Given the description of an element on the screen output the (x, y) to click on. 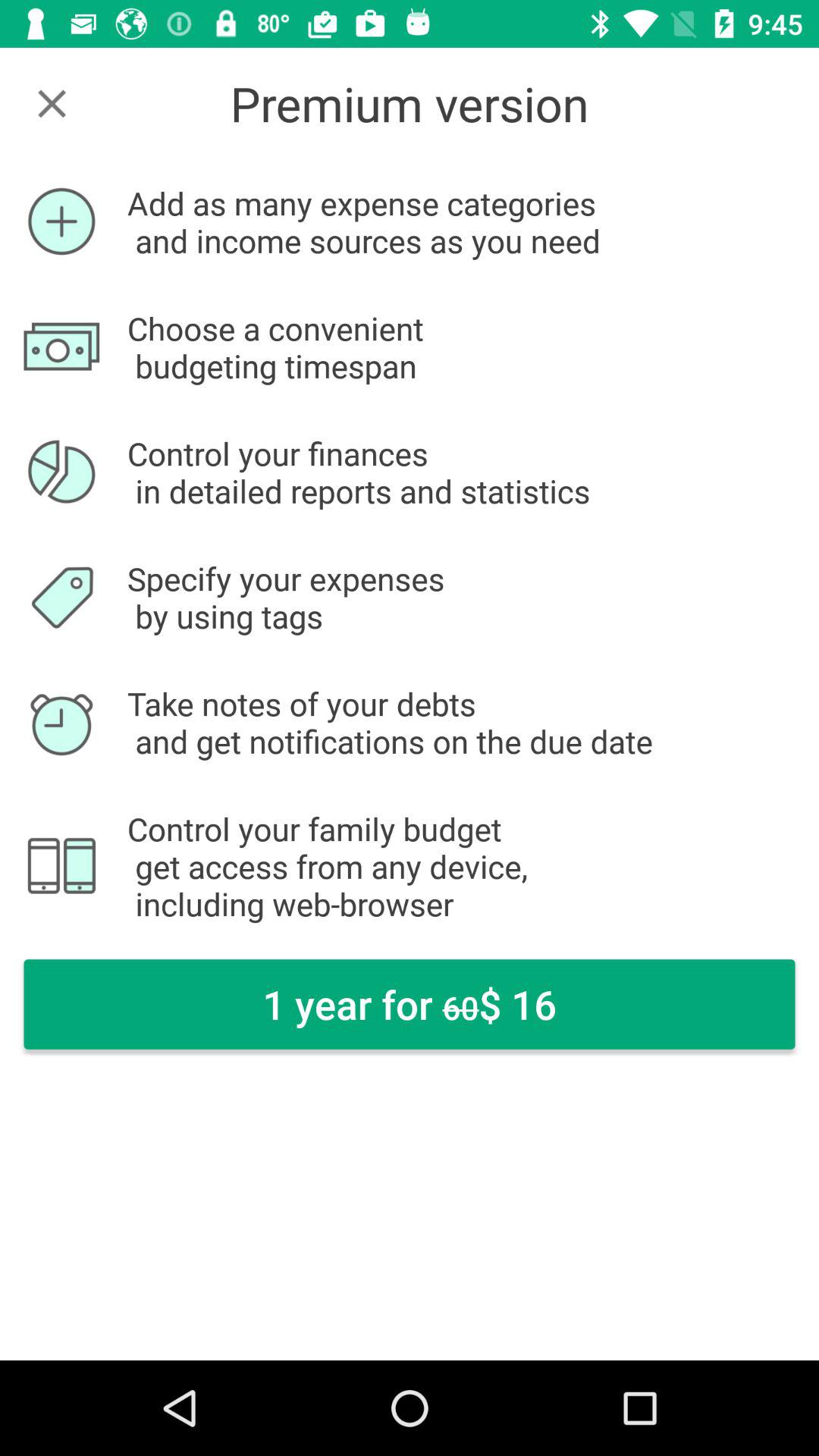
swipe until 1 year for item (409, 1004)
